Given the description of an element on the screen output the (x, y) to click on. 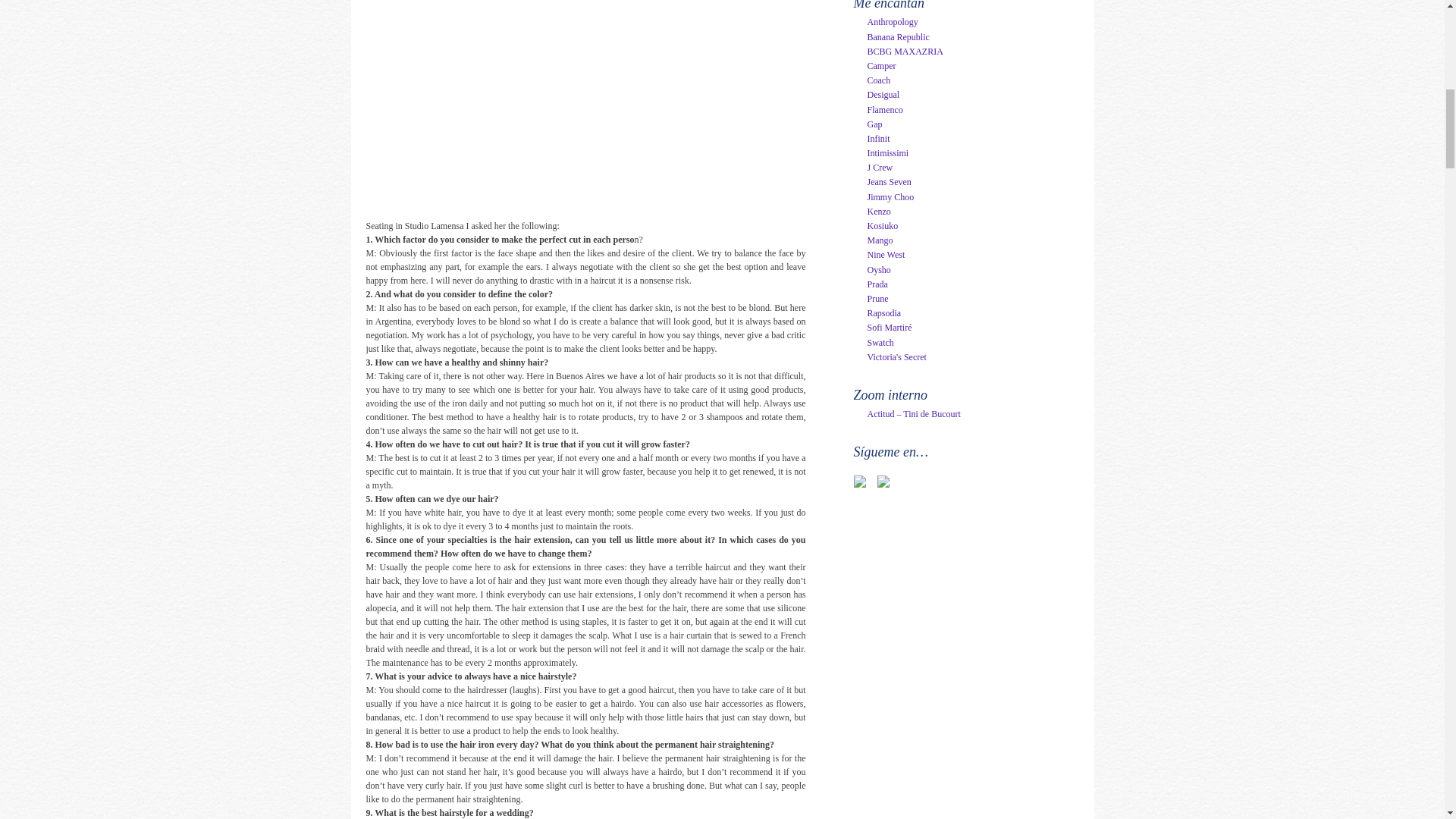
Picture 89 (555, 105)
